Given the description of an element on the screen output the (x, y) to click on. 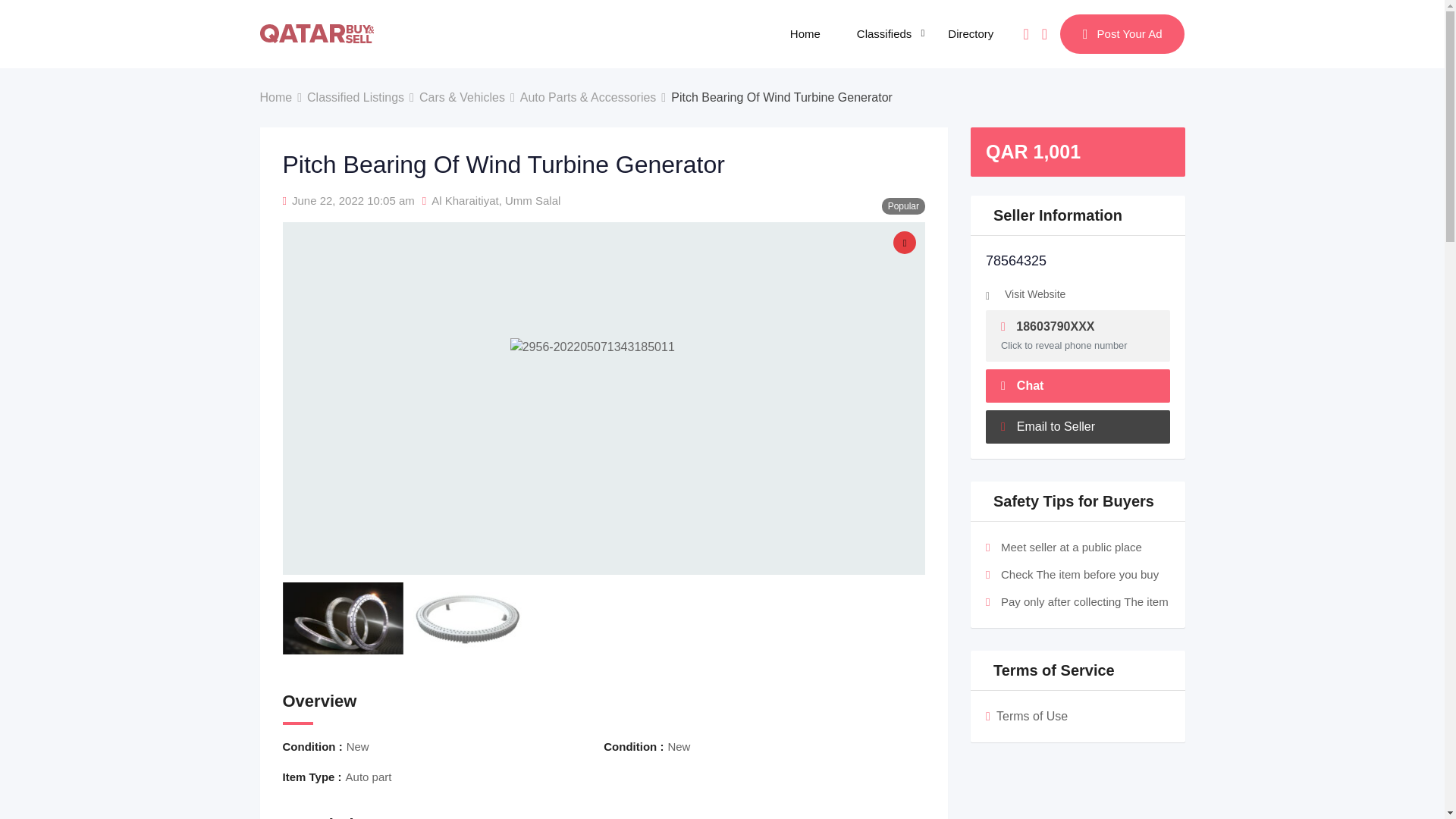
Directory (970, 33)
Home (804, 33)
Chat (1025, 33)
Classifieds (884, 33)
Home (275, 97)
Post Your Ad (1122, 34)
Classified Listings (355, 97)
